Given the description of an element on the screen output the (x, y) to click on. 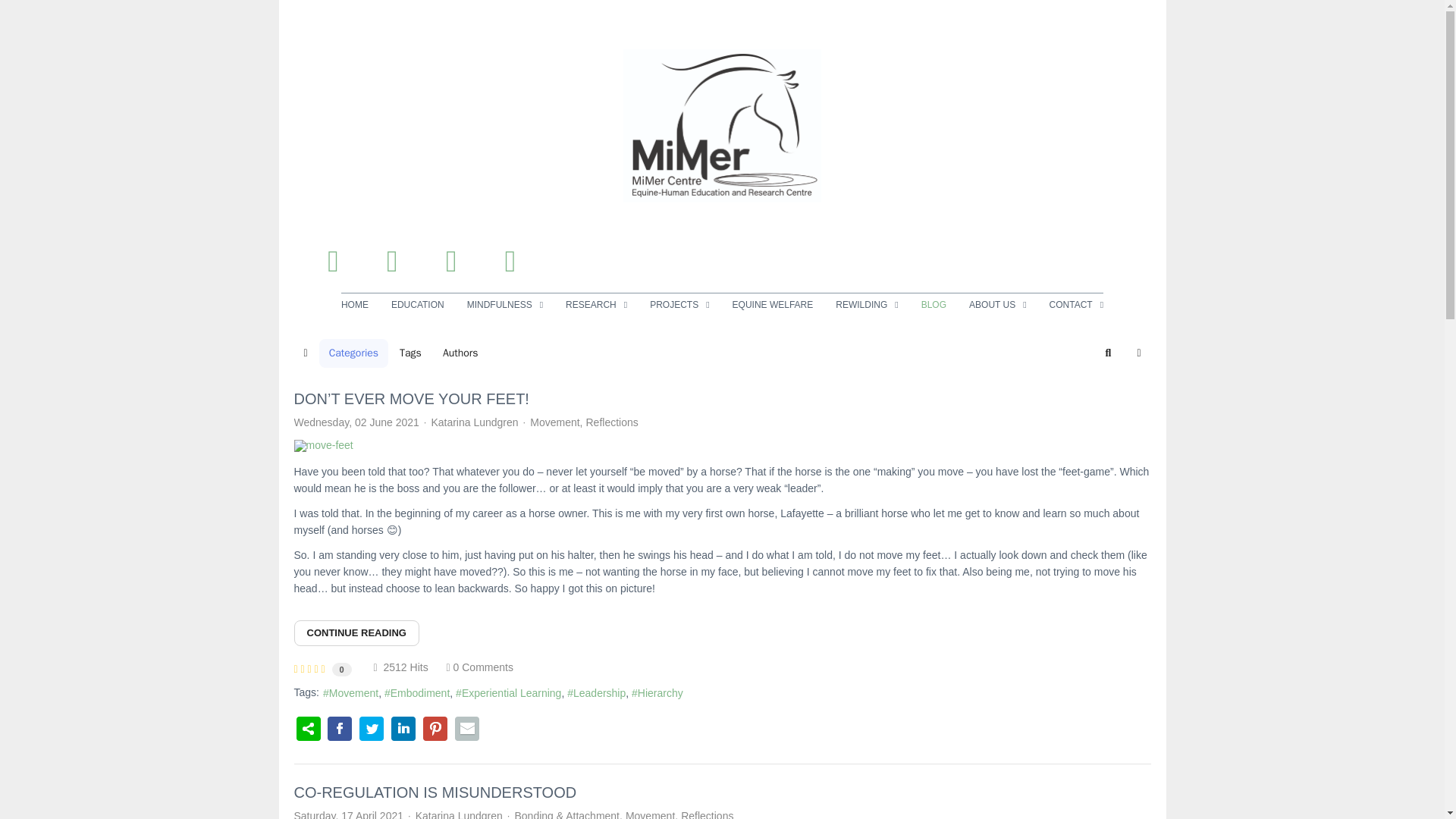
Categories (353, 353)
Not rated yet! (309, 668)
EQUINE WELFARE (772, 304)
HOME (360, 304)
Authors (459, 353)
REWILDING (866, 304)
Authors (459, 353)
Categories (353, 353)
Tags (410, 353)
RESEARCH (596, 304)
Tags (410, 353)
move-feet (722, 445)
EDUCATION (417, 304)
Search (1108, 353)
ABOUT US (998, 304)
